Given the description of an element on the screen output the (x, y) to click on. 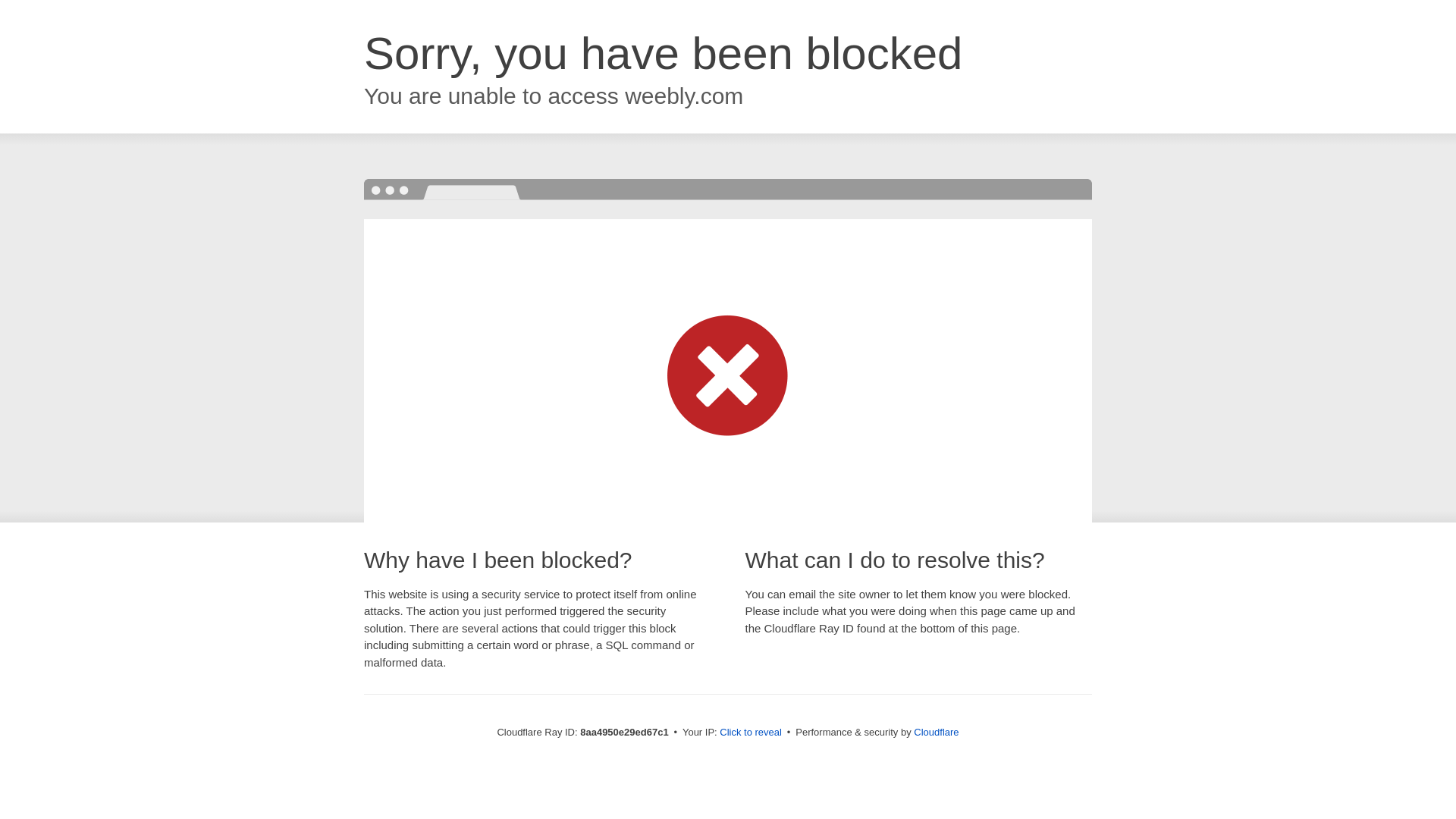
Click to reveal (750, 732)
Cloudflare (936, 731)
